Given the description of an element on the screen output the (x, y) to click on. 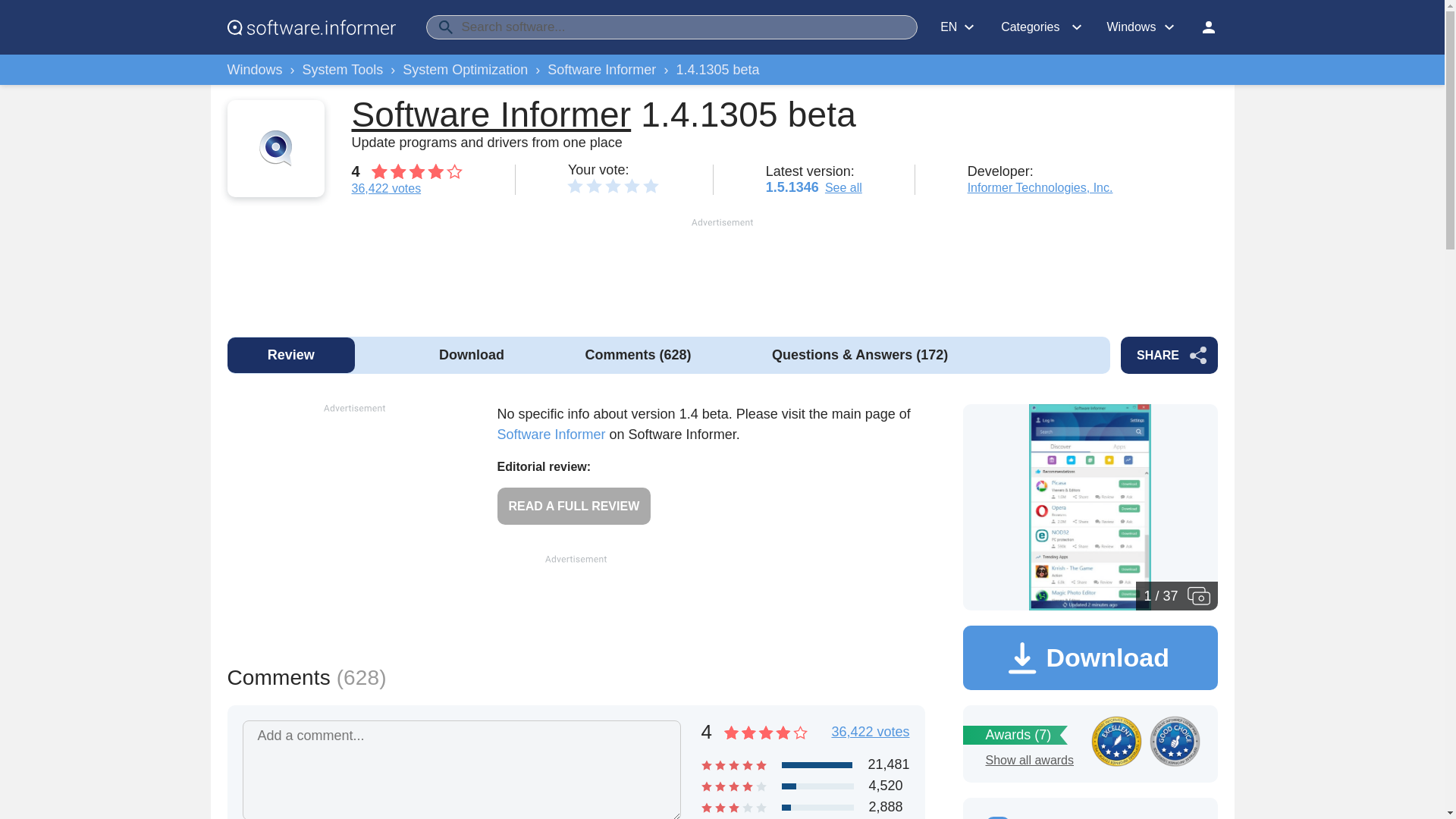
Software downloads and reviews (311, 26)
5 (651, 184)
Review (291, 355)
Editors' choice award (1115, 740)
System Tools (343, 69)
Download (471, 355)
Windows (254, 69)
System Optimization (465, 69)
Advertisement (721, 268)
Software Informer (601, 69)
Informer Technologies, Inc. (1040, 186)
Review (291, 355)
1 (575, 184)
